Given the description of an element on the screen output the (x, y) to click on. 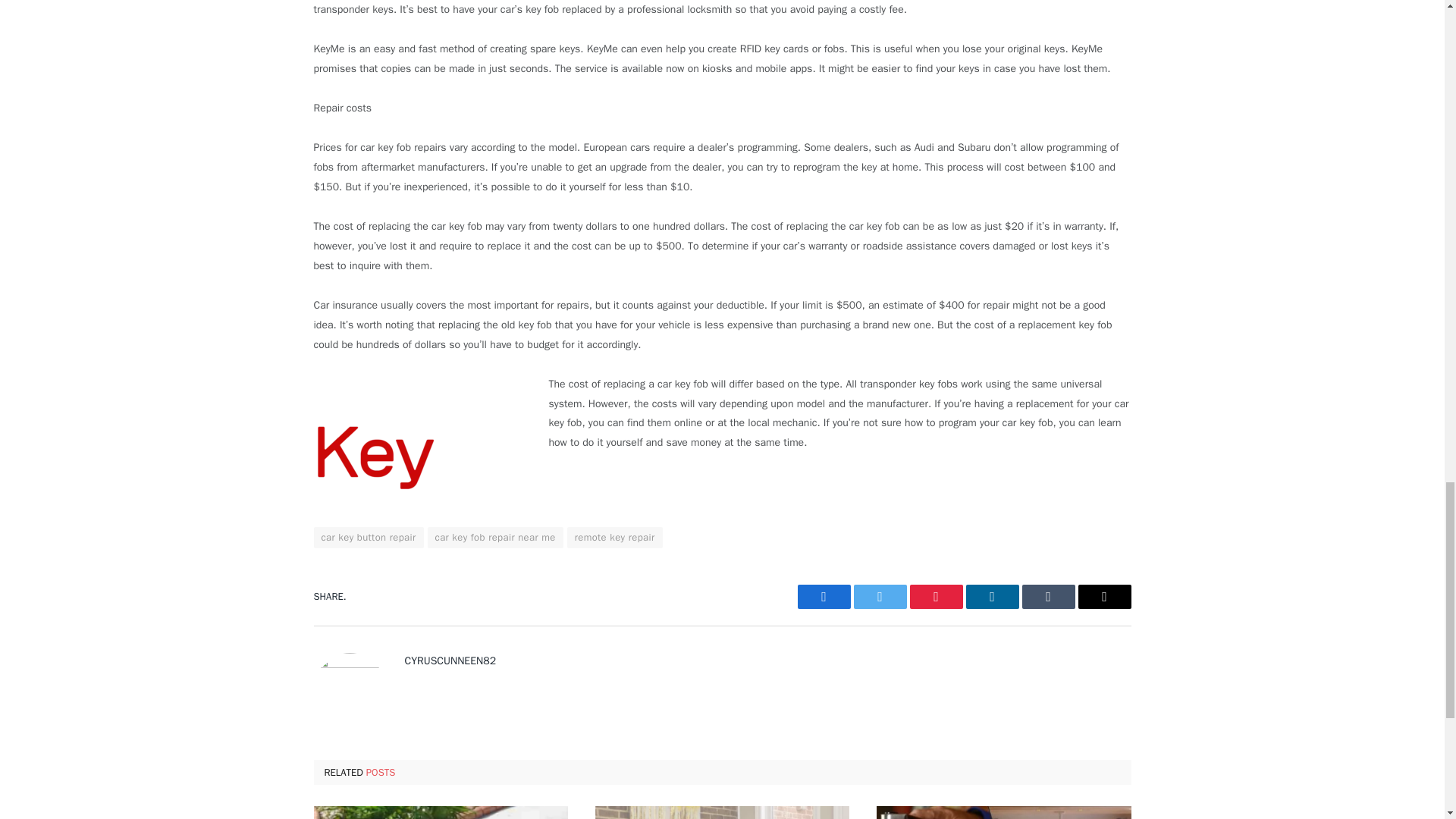
Share on LinkedIn (992, 596)
Share on Pinterest (936, 596)
Pinterest (936, 596)
remote key repair (614, 537)
Facebook (823, 596)
Tumblr (1048, 596)
LinkedIn (992, 596)
Email (1104, 596)
car key fob repair near me (495, 537)
car key button repair (368, 537)
Twitter (880, 596)
Share on Facebook (823, 596)
CYRUSCUNNEEN82 (450, 660)
